Given the description of an element on the screen output the (x, y) to click on. 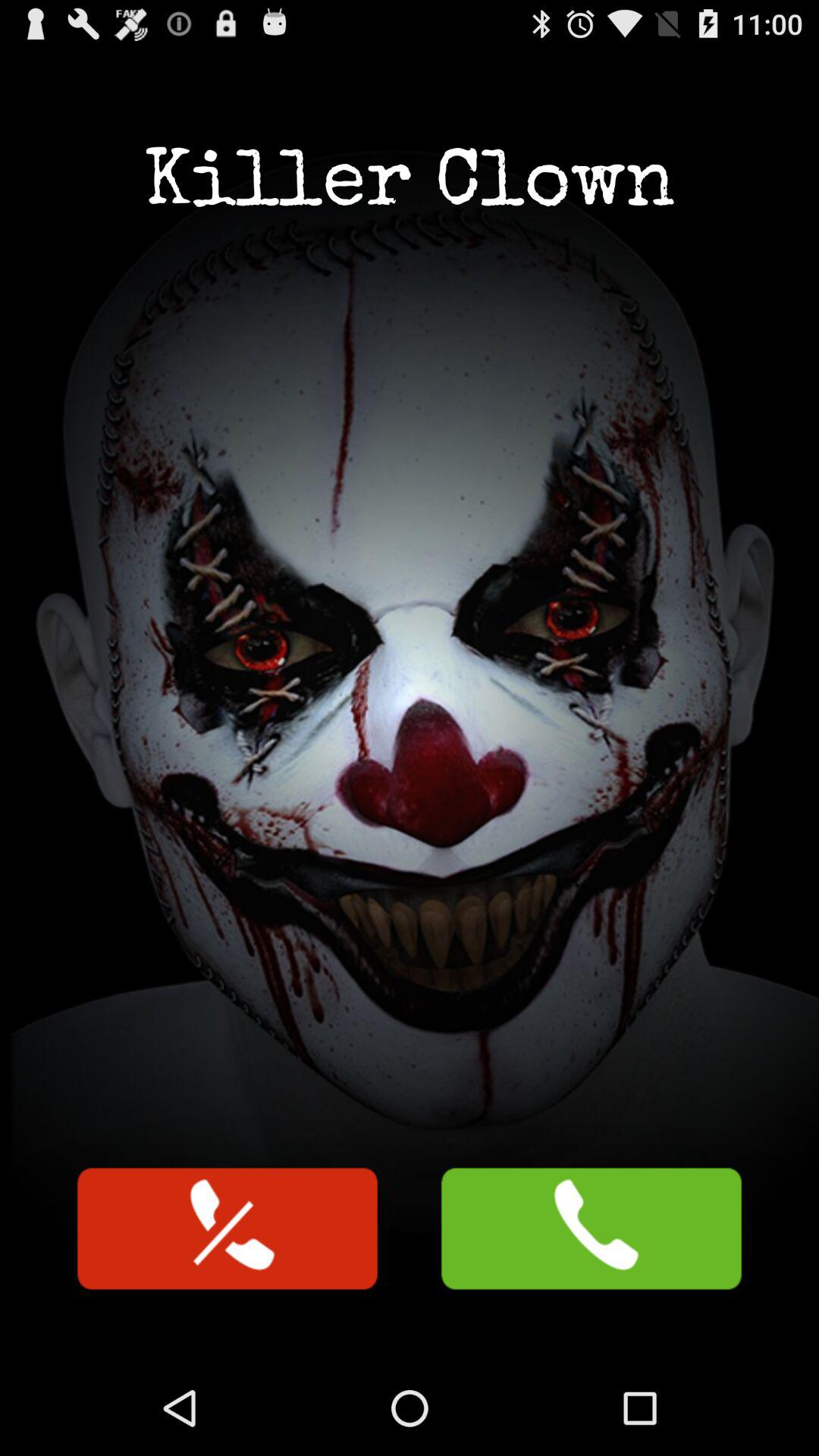
hang up (227, 1228)
